Given the description of an element on the screen output the (x, y) to click on. 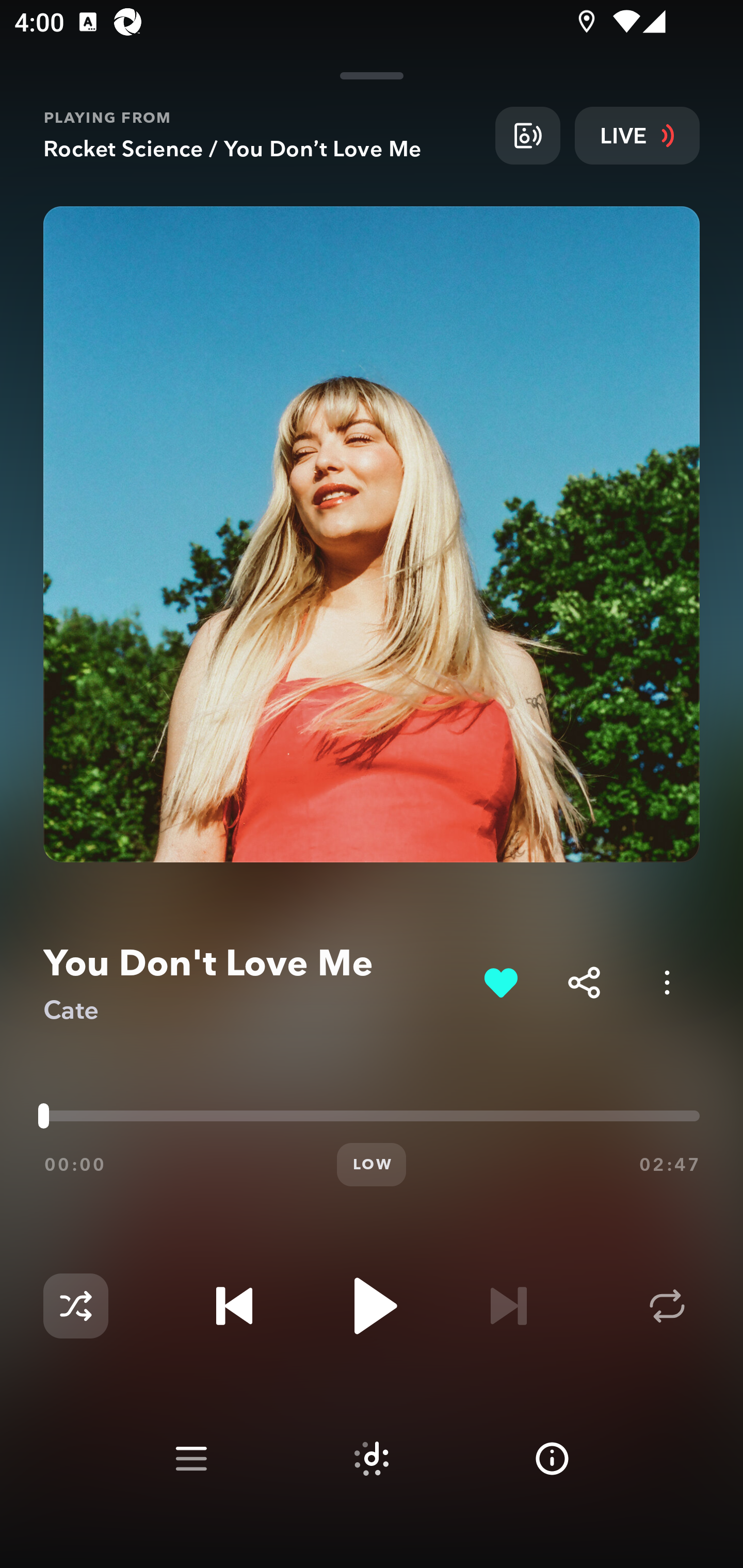
Broadcast (527, 135)
LIVE (637, 135)
PLAYING FROM Rocket Science / You Don’t Love Me (261, 135)
You Don't Love Me Cate (255, 983)
Remove from My Collection (500, 982)
Share (583, 982)
Options (666, 982)
LOW (371, 1164)
Play (371, 1306)
Previous (234, 1306)
Next (508, 1306)
Shuffle enabled (75, 1306)
Repeat Off (666, 1306)
Play queue (191, 1458)
Suggested tracks (371, 1458)
Info (551, 1458)
